Given the description of an element on the screen output the (x, y) to click on. 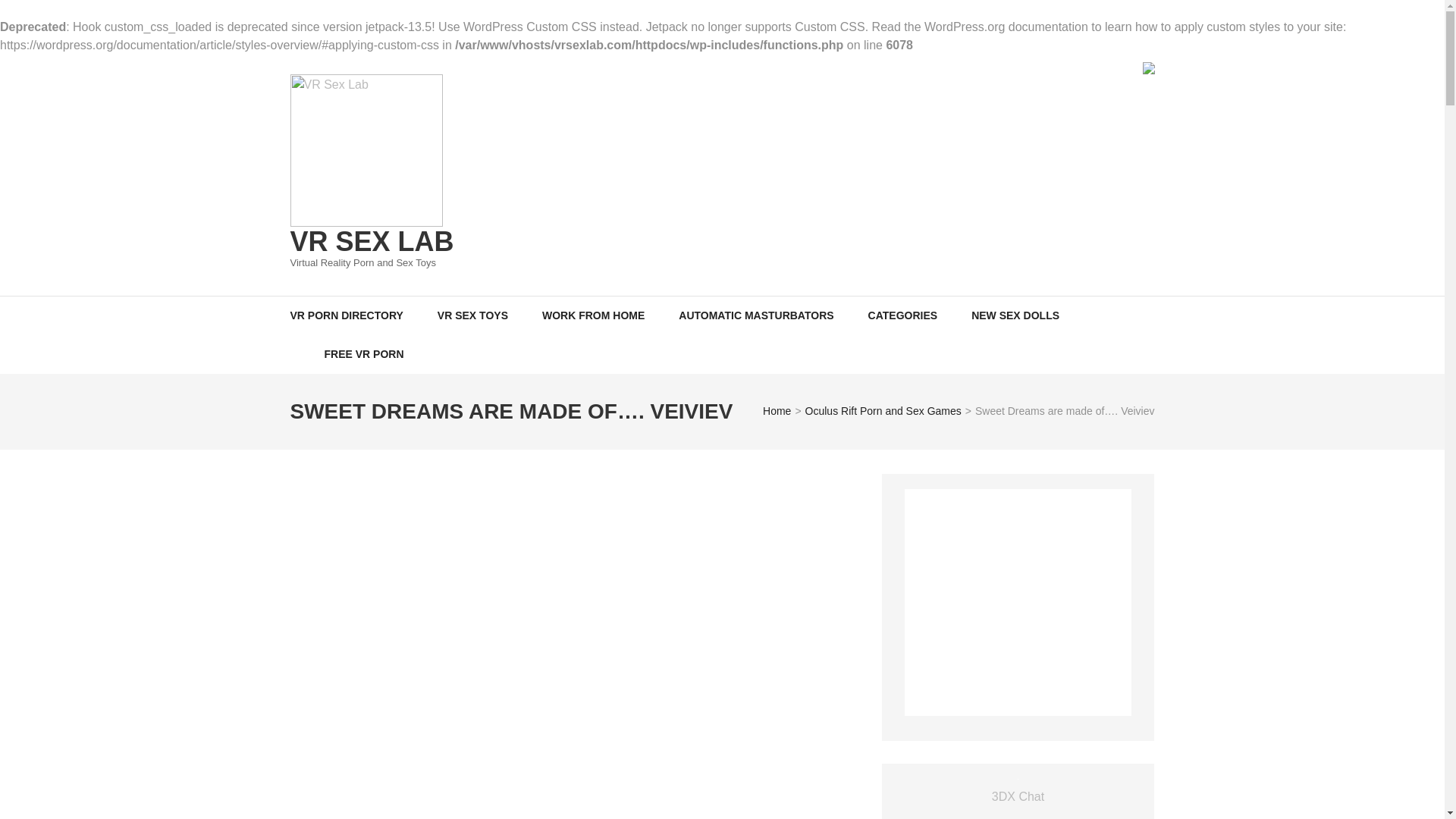
VR SEX TOYS (473, 314)
AUTOMATIC MASTURBATORS (755, 314)
VR PORN DIRECTORY (346, 314)
WORK FROM HOME (593, 314)
CATEGORIES (902, 314)
VR SEX LAB (370, 241)
